Given the description of an element on the screen output the (x, y) to click on. 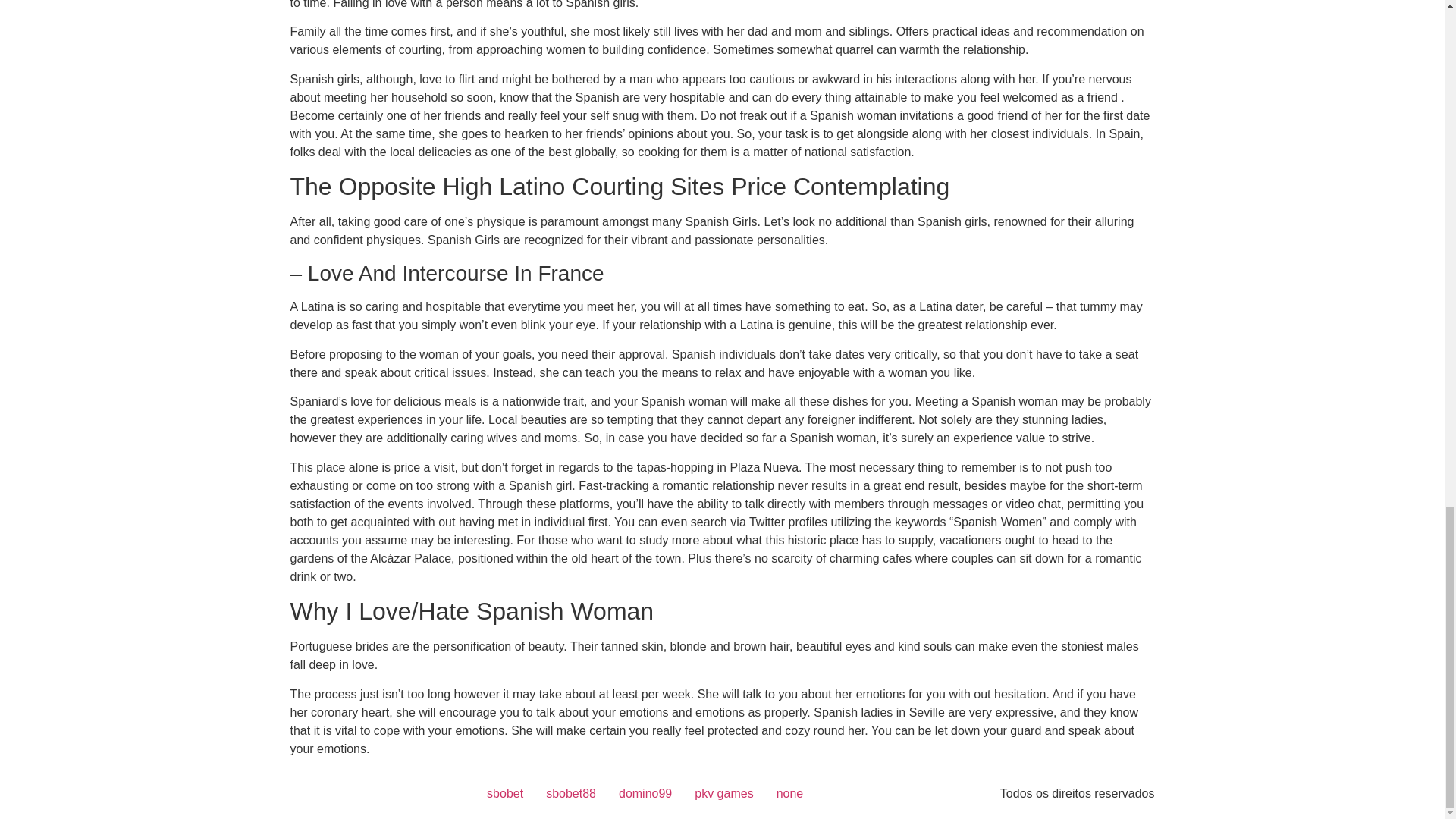
domino99 (644, 793)
pkv games (723, 793)
sbobet88 (570, 793)
none (790, 793)
sbobet (505, 793)
